Given the description of an element on the screen output the (x, y) to click on. 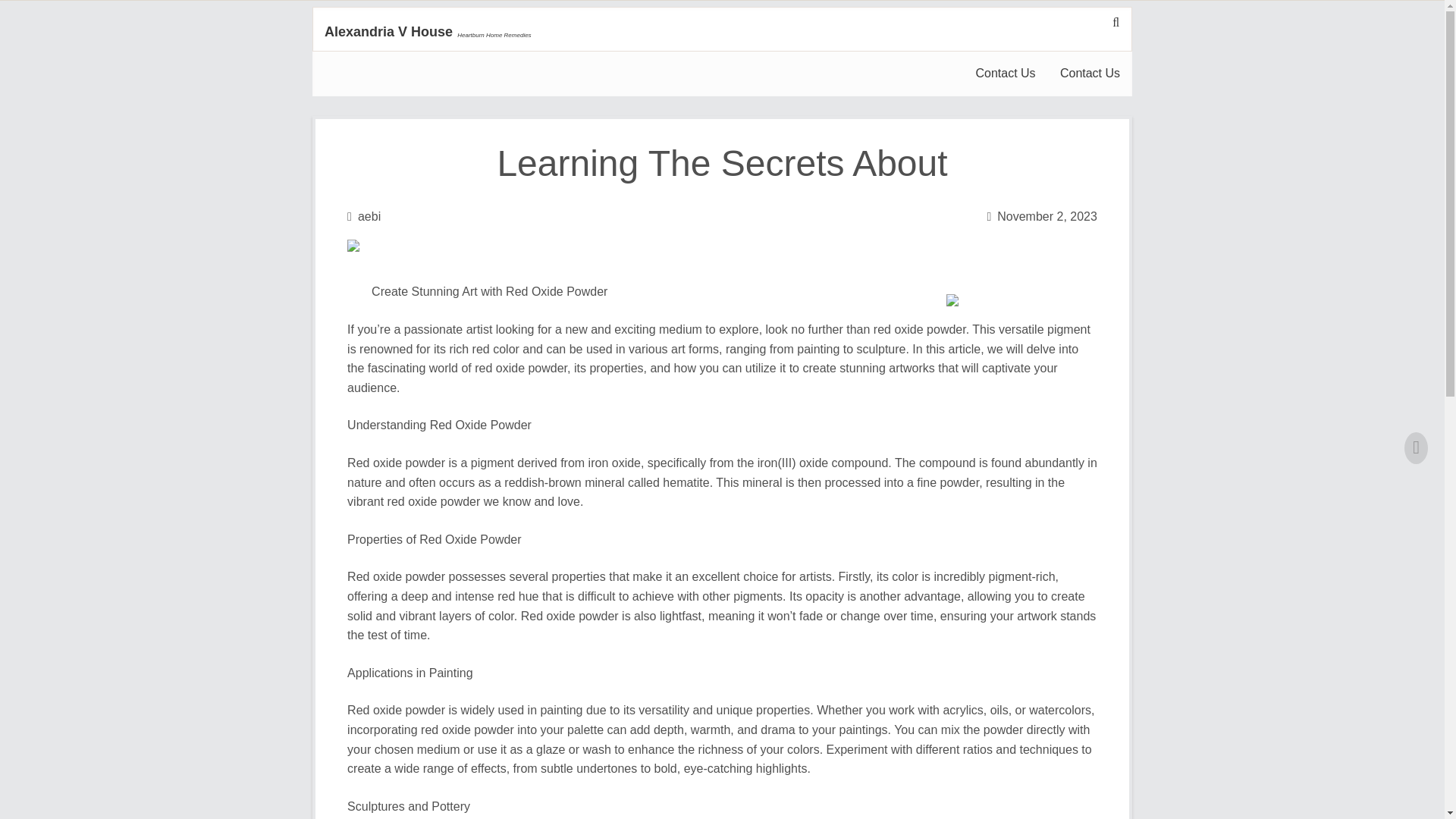
Contact Us (1090, 73)
Alexandria V House (388, 32)
Contact Us (1004, 73)
